Given the description of an element on the screen output the (x, y) to click on. 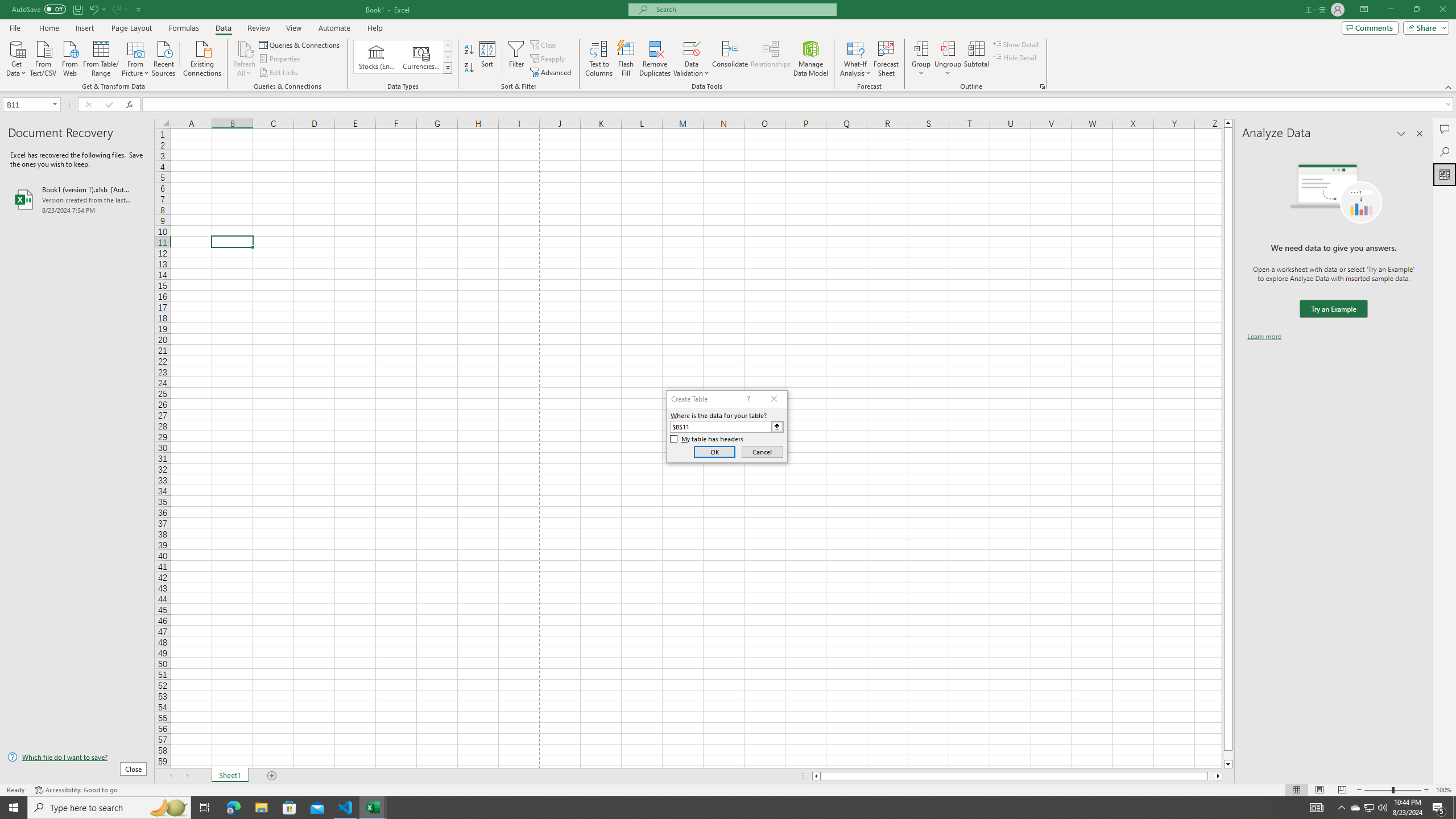
Data Validation... (691, 48)
Page down (1228, 755)
Existing Connections (202, 57)
Zoom (1392, 790)
Data (223, 28)
Restore Down (1416, 9)
From Web (69, 57)
Ribbon Display Options (1364, 9)
Column right (1218, 775)
Get Data (16, 57)
Microsoft search (742, 9)
Line up (1228, 122)
Data Types (448, 67)
Share (1423, 27)
